Given the description of an element on the screen output the (x, y) to click on. 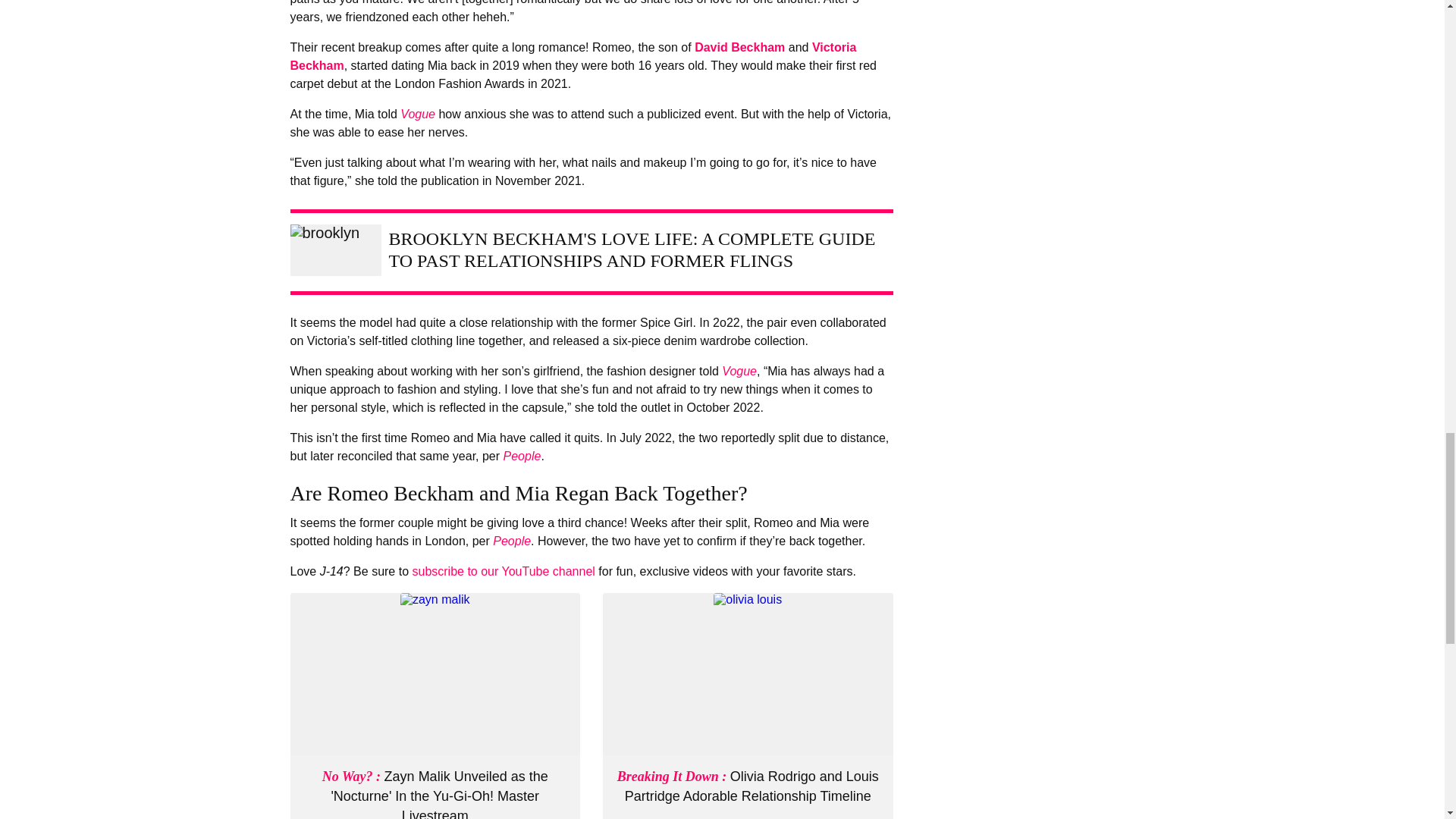
subscribe to our YouTube channel (503, 571)
David Beckham (739, 47)
Vogue (739, 370)
Victoria Beckham (572, 56)
People (522, 455)
Vogue (417, 113)
People (512, 540)
